Given the description of an element on the screen output the (x, y) to click on. 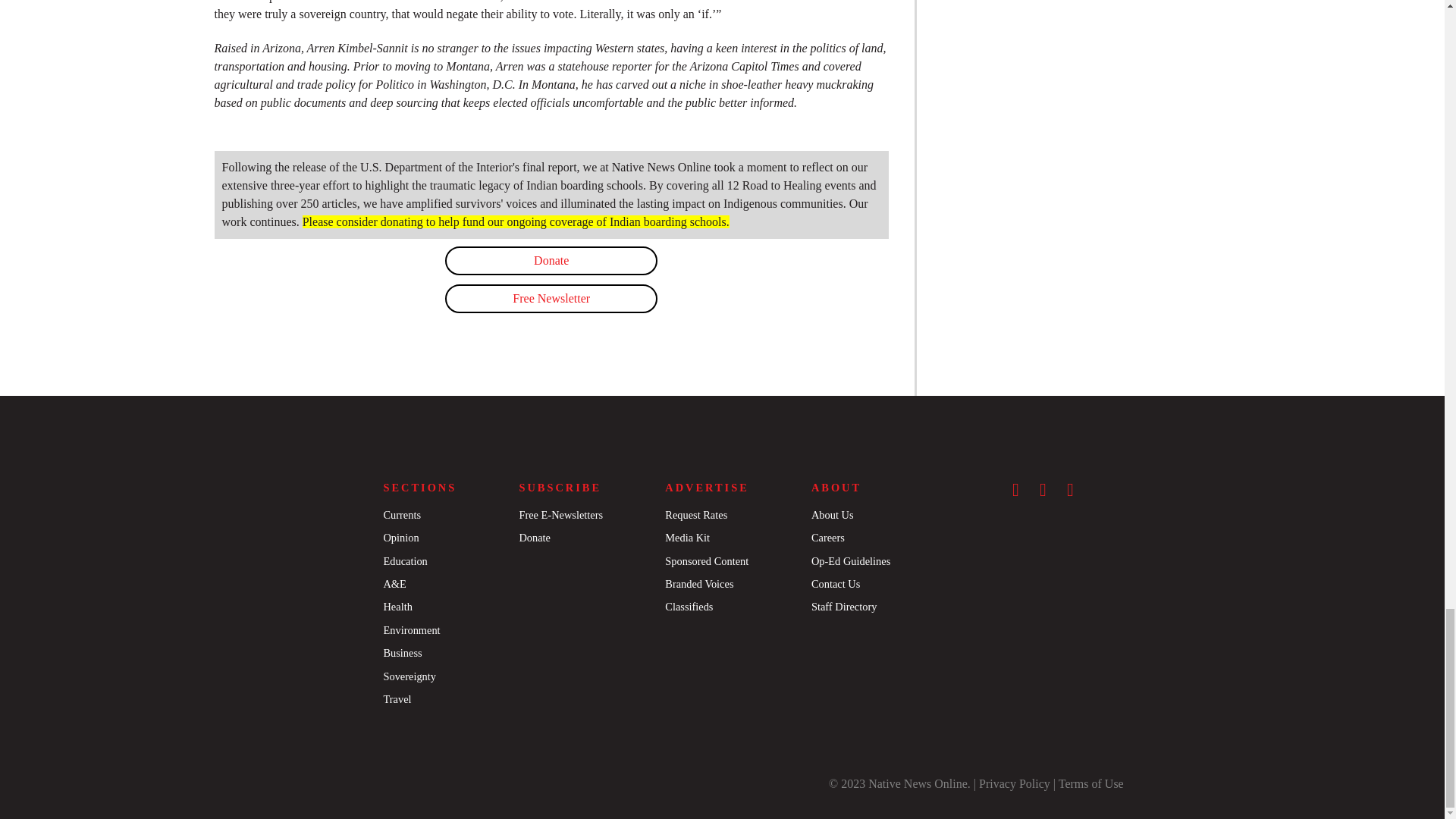
Request Rates (695, 514)
Business (402, 653)
Free E-Newsletters (560, 514)
Travel (396, 698)
Sovereignty (408, 676)
Media Kit (687, 537)
Health (397, 606)
Education (404, 561)
Donate (534, 537)
Donate (551, 260)
